Given the description of an element on the screen output the (x, y) to click on. 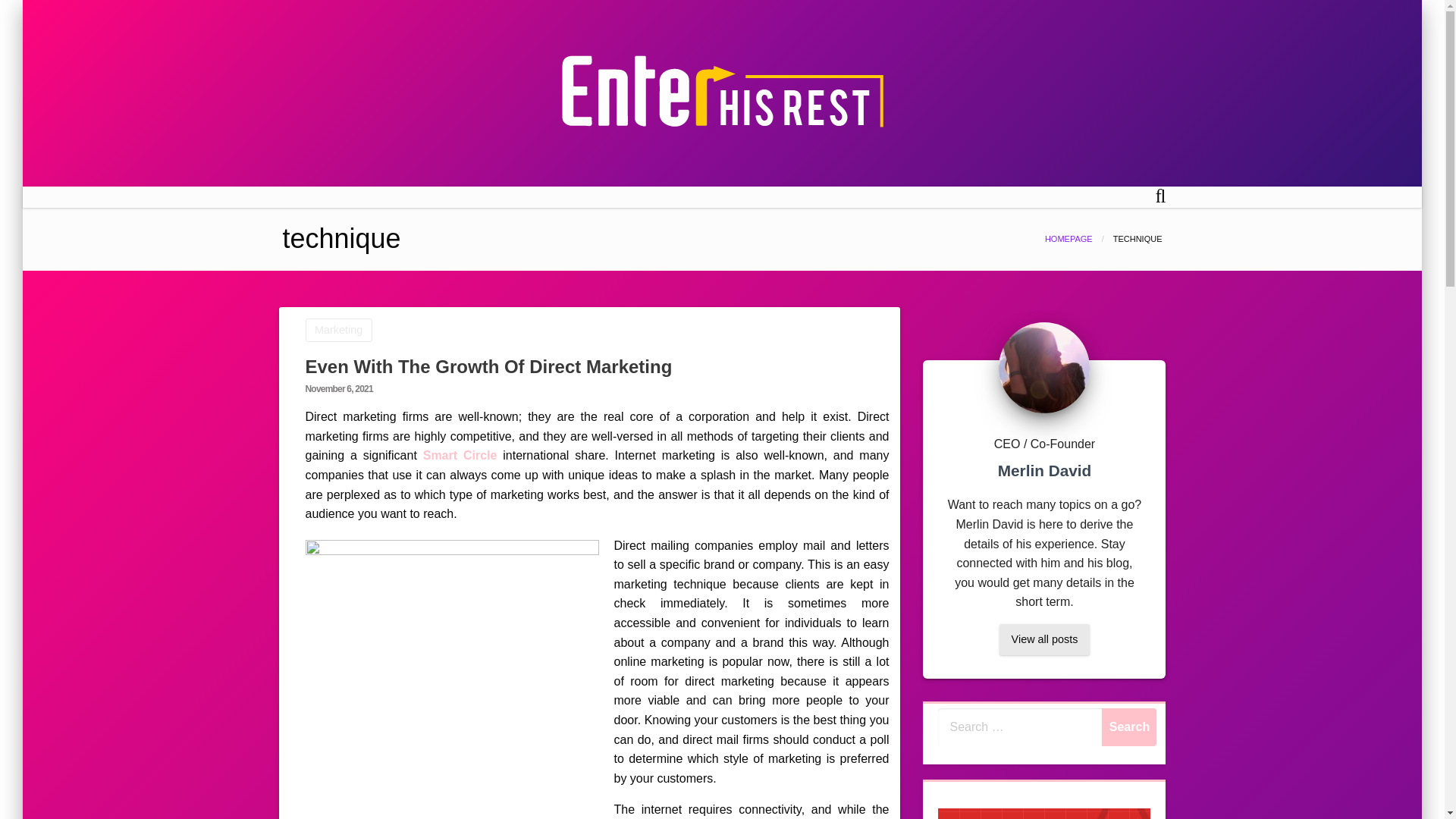
Search (1129, 727)
Progress through updates with factual information (961, 156)
Homepage (1069, 238)
Search (1129, 727)
Even With The Growth Of Direct Marketing  (490, 366)
Search (1129, 727)
Smart Circle (460, 454)
Marketing (337, 330)
View all posts (1043, 639)
November 6, 2021 (338, 388)
